Given the description of an element on the screen output the (x, y) to click on. 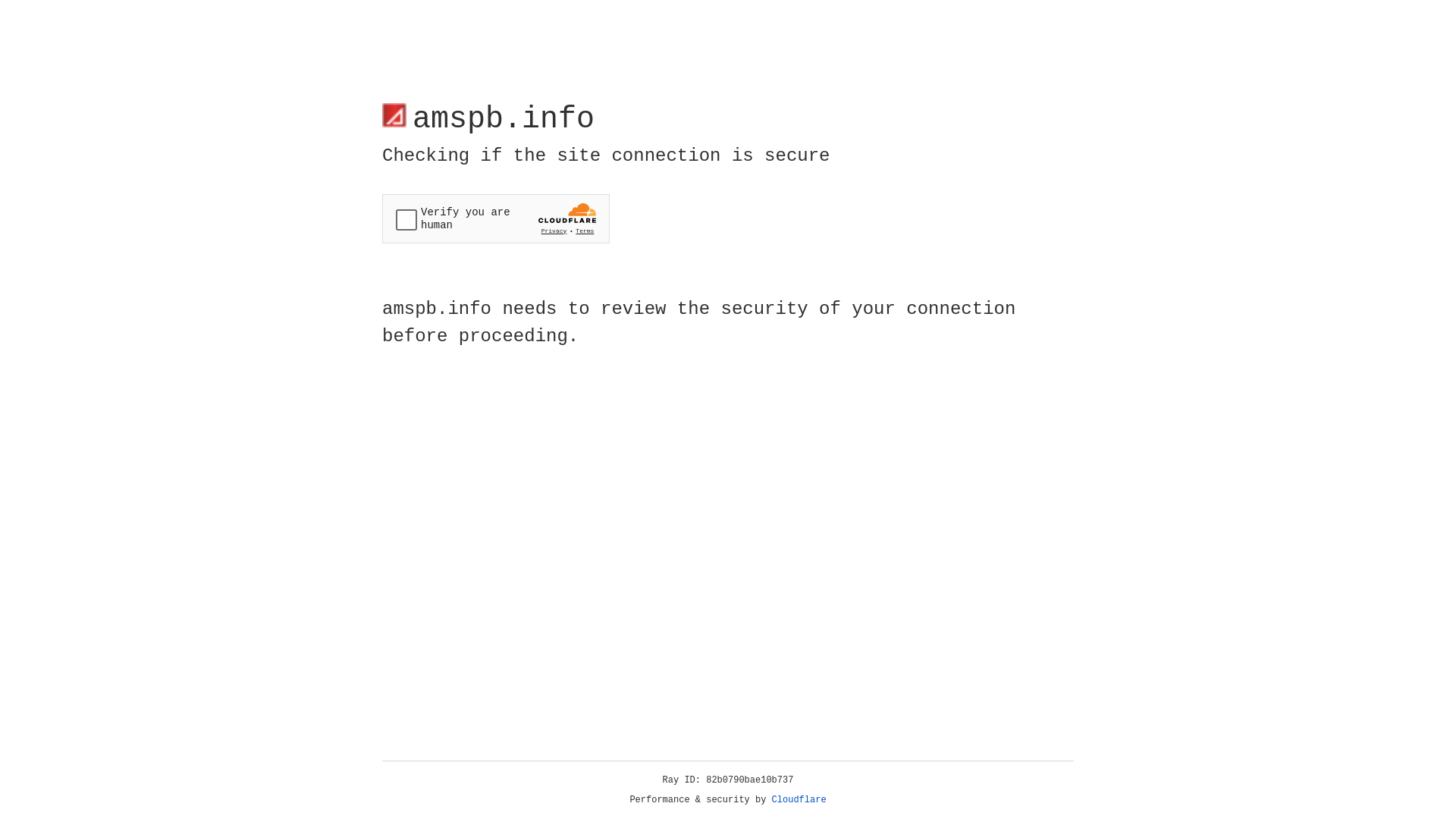
Widget containing a Cloudflare security challenge Element type: hover (495, 218)
Cloudflare Element type: text (798, 799)
